Given the description of an element on the screen output the (x, y) to click on. 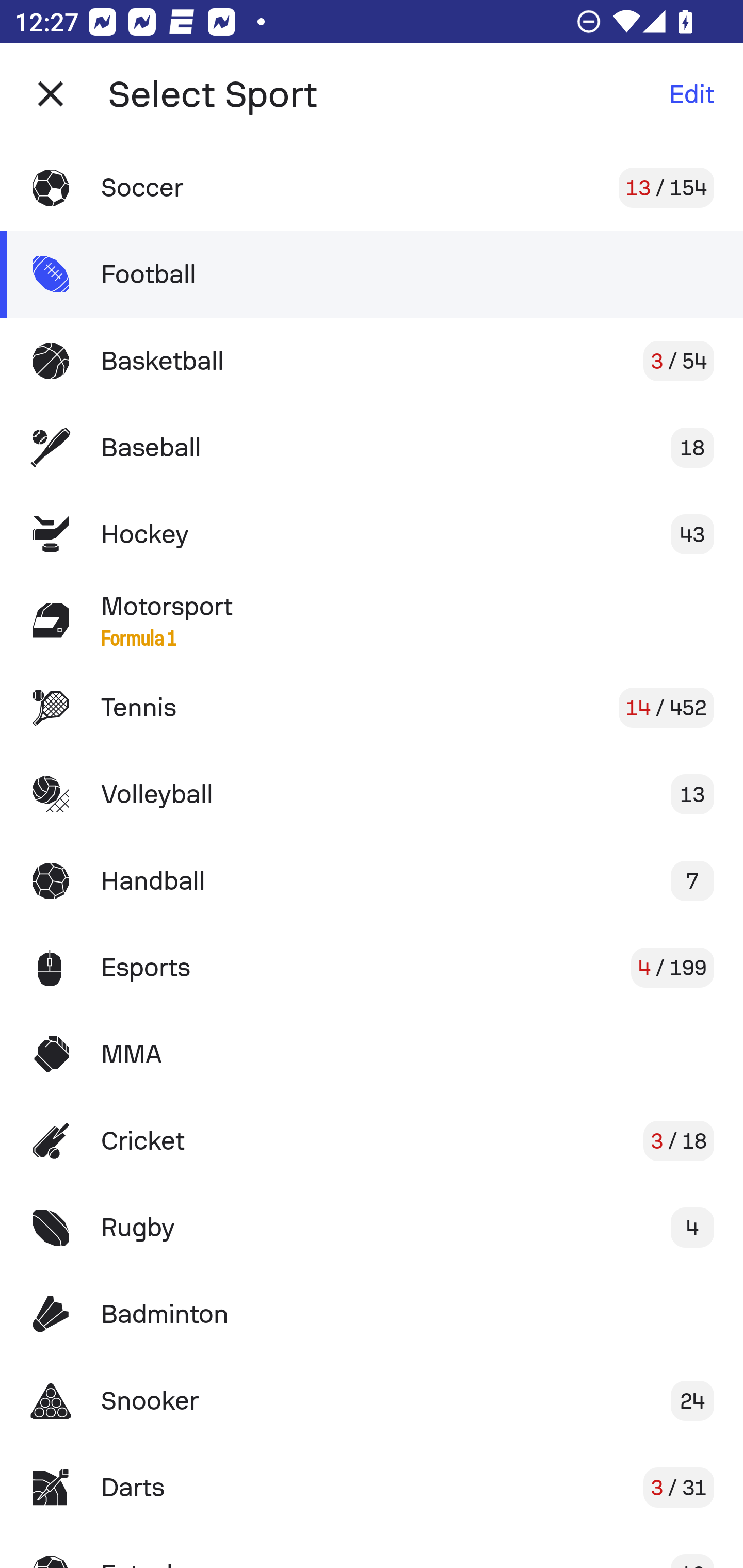
Edit (691, 93)
Soccer 13 / 154 (371, 187)
Football (371, 274)
Basketball 3 / 54 (371, 361)
Baseball 18 (371, 447)
Hockey 43 (371, 533)
Motorsport Formula 1 (371, 620)
Tennis 14 / 452 (371, 707)
Volleyball 13 (371, 794)
Handball 7 (371, 880)
Esports 4 / 199 (371, 967)
MMA (371, 1054)
Cricket 3 / 18 (371, 1140)
Rugby 4 (371, 1227)
Badminton (371, 1314)
Snooker 24 (371, 1400)
Darts 3 / 31 (371, 1487)
